Given the description of an element on the screen output the (x, y) to click on. 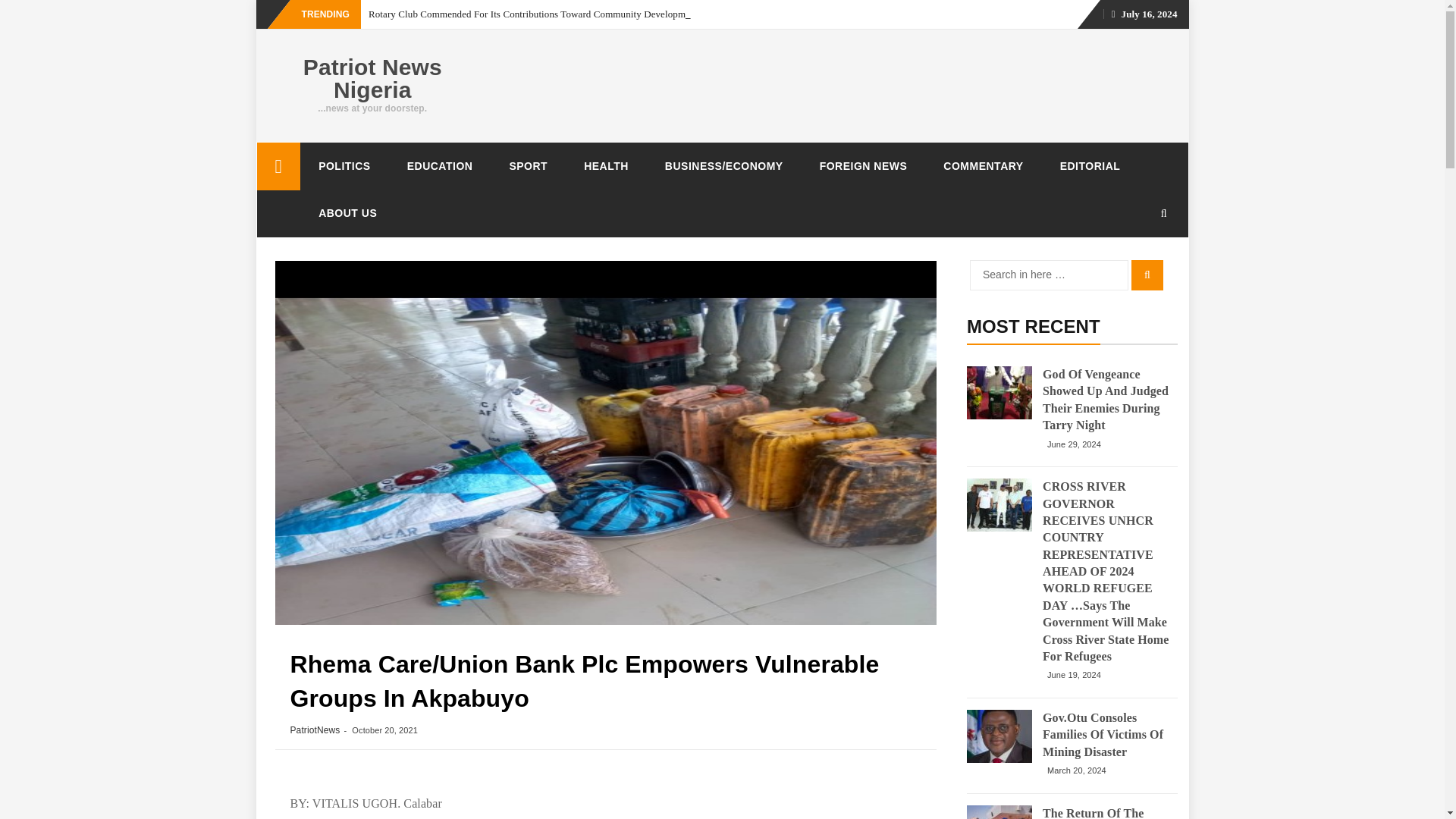
Search for: (1048, 275)
Search (1147, 275)
PatriotNews (314, 729)
SPORT (528, 165)
Patriot News Nigeria (277, 166)
Patriot News Nigeria (372, 78)
ABOUT US (346, 212)
EDUCATION (440, 165)
EDITORIAL (1090, 165)
The Return Of The Native, Tinubu Arrived Eko Ile Ogbon!!! (999, 812)
FOREIGN NEWS (864, 165)
Gov.Otu Consoles Families Of Victims Of Mining Disaster (999, 736)
Gov.Otu Consoles Families Of Victims Of Mining Disaster (1106, 735)
